Given the description of an element on the screen output the (x, y) to click on. 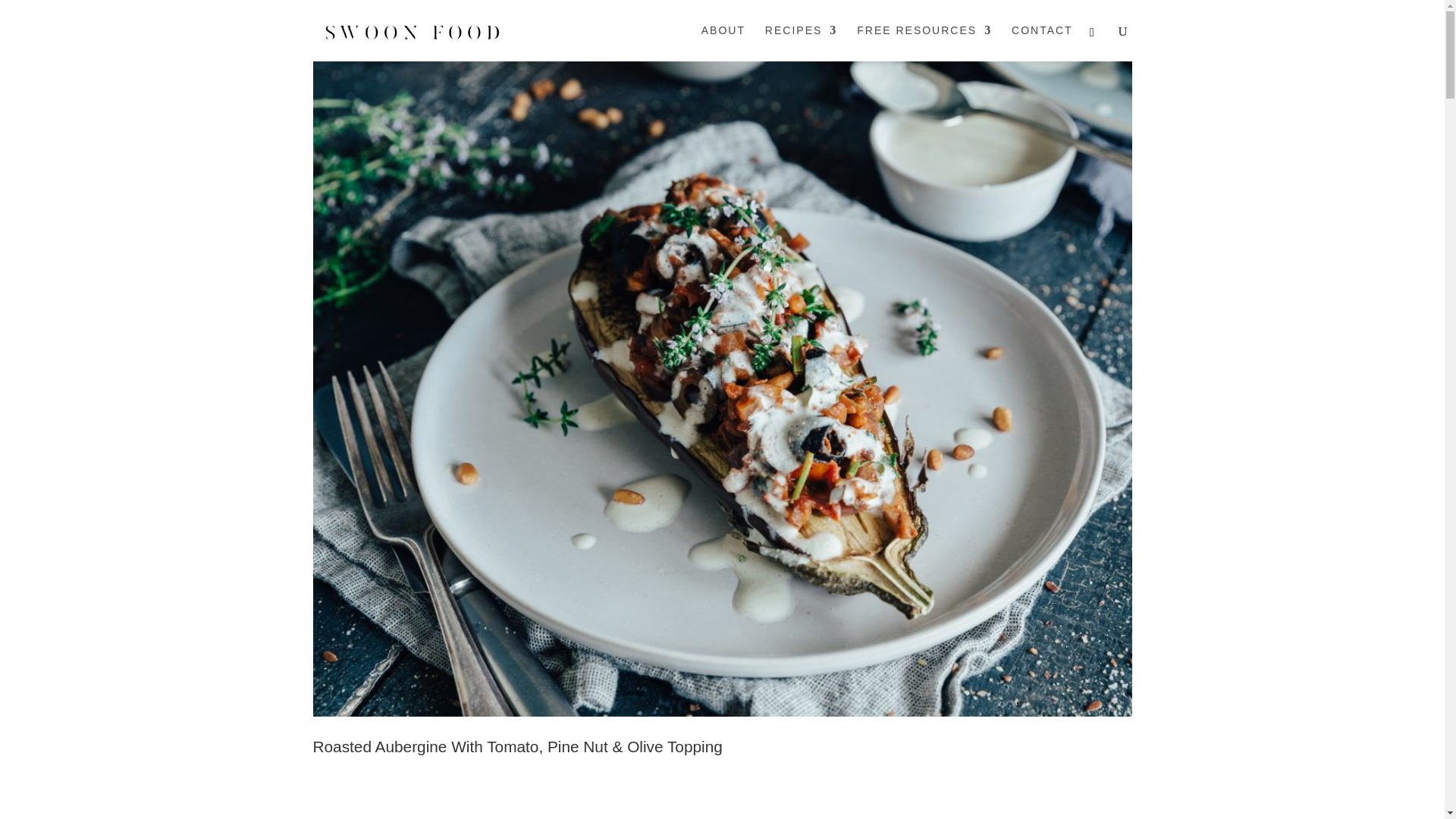
ABOUT (723, 42)
FREE RESOURCES (924, 42)
RECIPES (801, 42)
CONTACT (1042, 42)
